Given the description of an element on the screen output the (x, y) to click on. 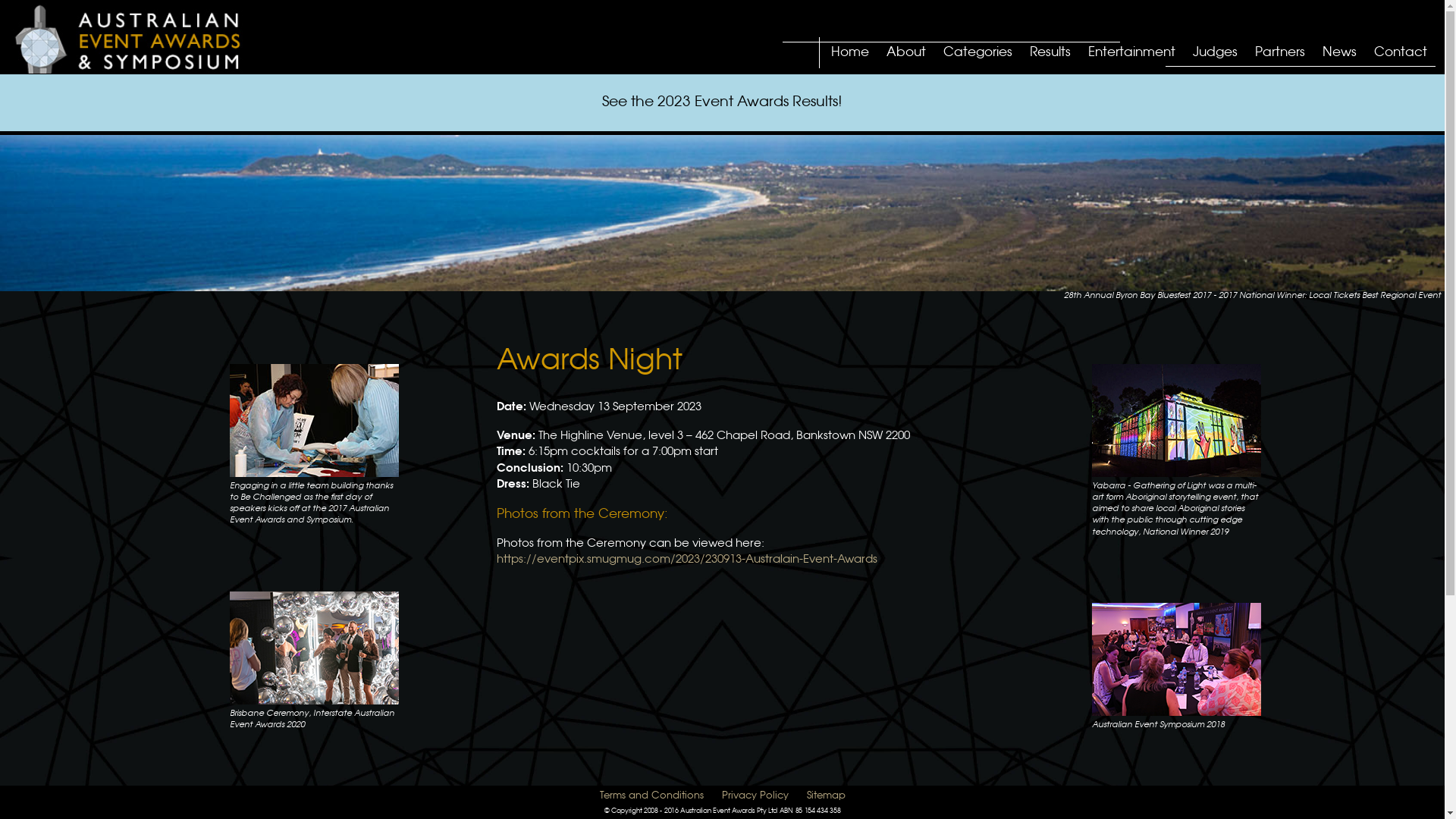
Sitemap Element type: text (825, 796)
Partners Element type: text (1279, 53)
Judges Element type: text (1215, 53)
Entertainment Element type: text (1131, 53)
See the 2023 Event Awards Results! Element type: text (722, 102)
Results Element type: text (1050, 53)
News Element type: text (1339, 53)
Model Element type: hover (141, 38)
Categories Element type: text (977, 53)
About Element type: text (905, 53)
Contact Element type: text (1400, 53)
Privacy Policy Element type: text (754, 796)
Home Element type: text (849, 53)
Terms and Conditions Element type: text (650, 796)
